Given the description of an element on the screen output the (x, y) to click on. 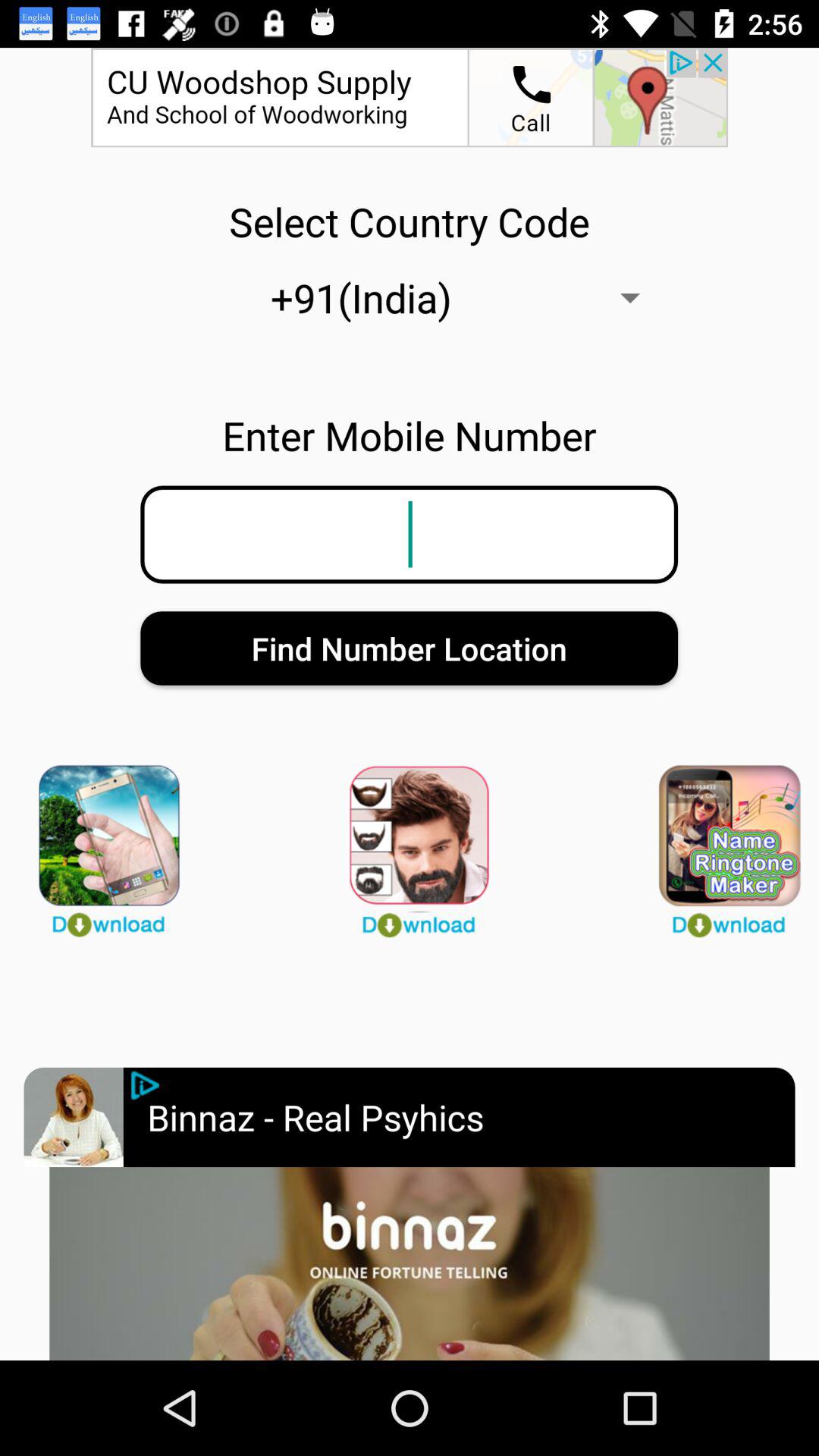
advertisement selction (73, 1117)
